Given the description of an element on the screen output the (x, y) to click on. 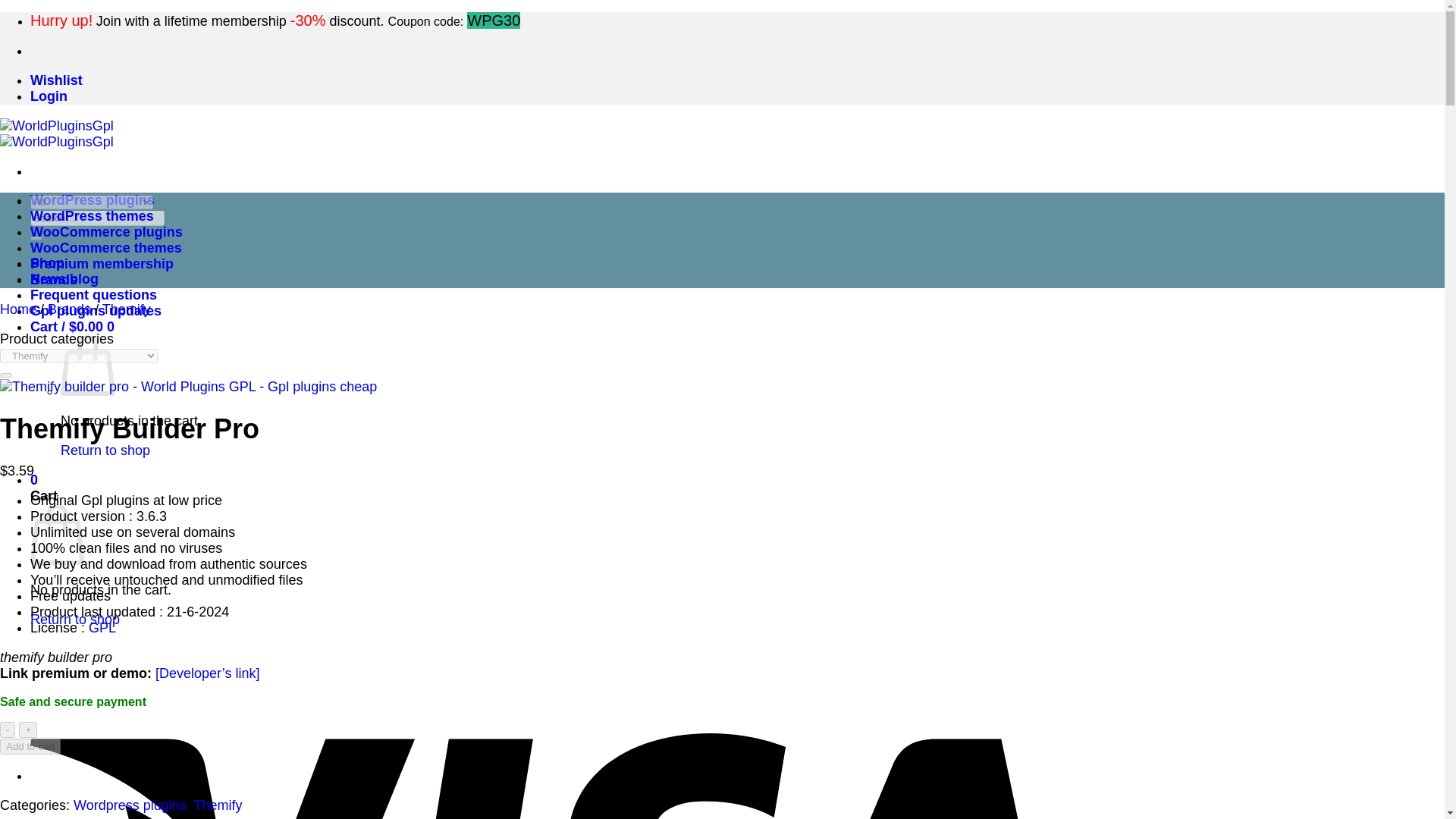
Frequent questions (93, 294)
Wishlist (56, 79)
Search (36, 237)
Home (18, 309)
GPL (102, 627)
Themify (218, 805)
Premium membership (101, 263)
News blog (64, 278)
Brands (69, 309)
Shop (47, 263)
Add to cart (30, 746)
WordPress themes (92, 215)
Cart (72, 326)
Return to shop (105, 450)
Gpl plugins updates (95, 310)
